Given the description of an element on the screen output the (x, y) to click on. 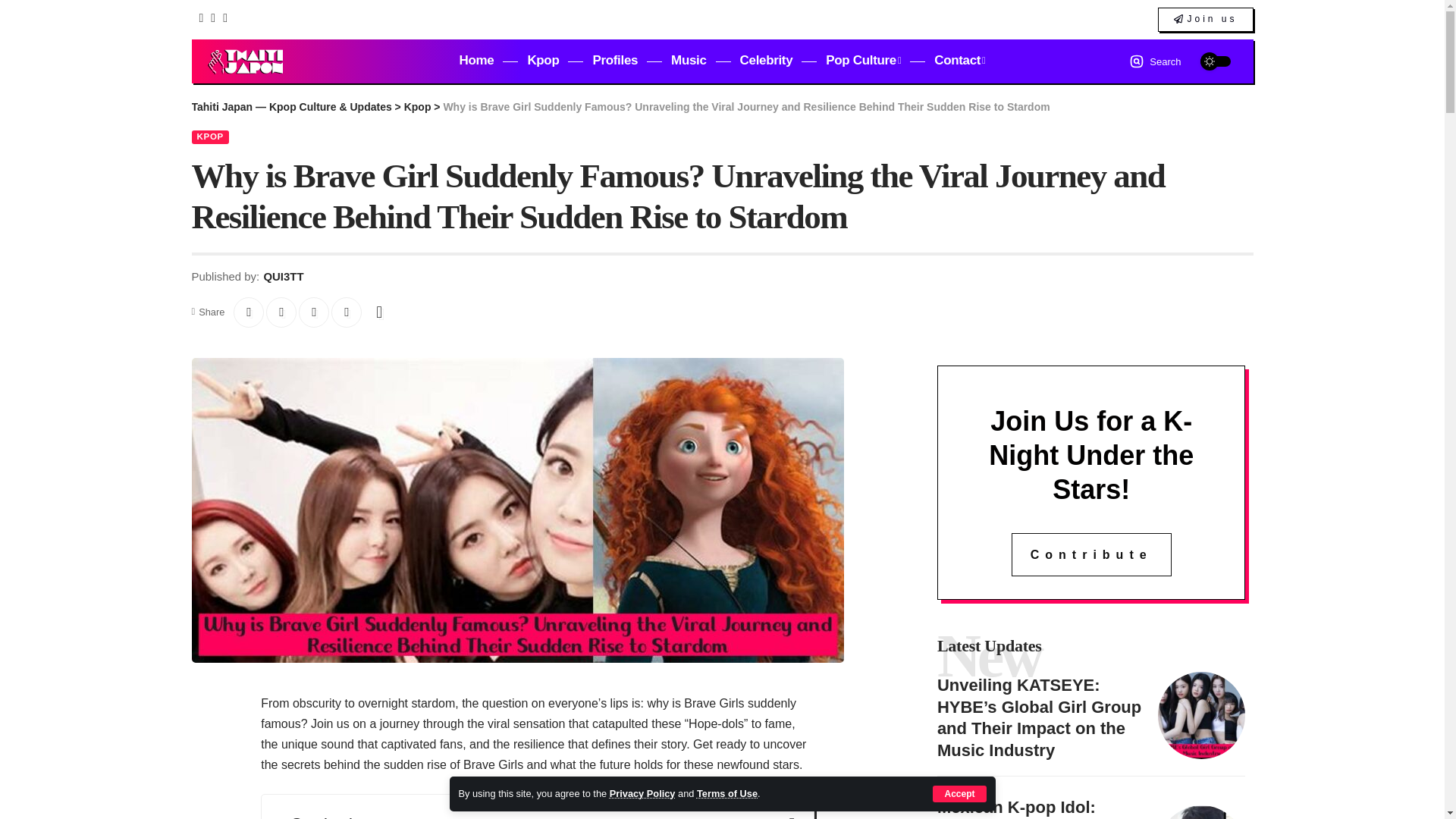
Go to the Kpop Category archives. (417, 106)
Contact (959, 61)
Celebrity (766, 61)
Join us (1204, 19)
Pop Culture (863, 61)
Music (688, 61)
Search (1154, 61)
Privacy Policy (642, 793)
Profiles (614, 61)
Terms of Use (727, 793)
Accept (959, 793)
Kpop (542, 61)
Home (476, 61)
